Given the description of an element on the screen output the (x, y) to click on. 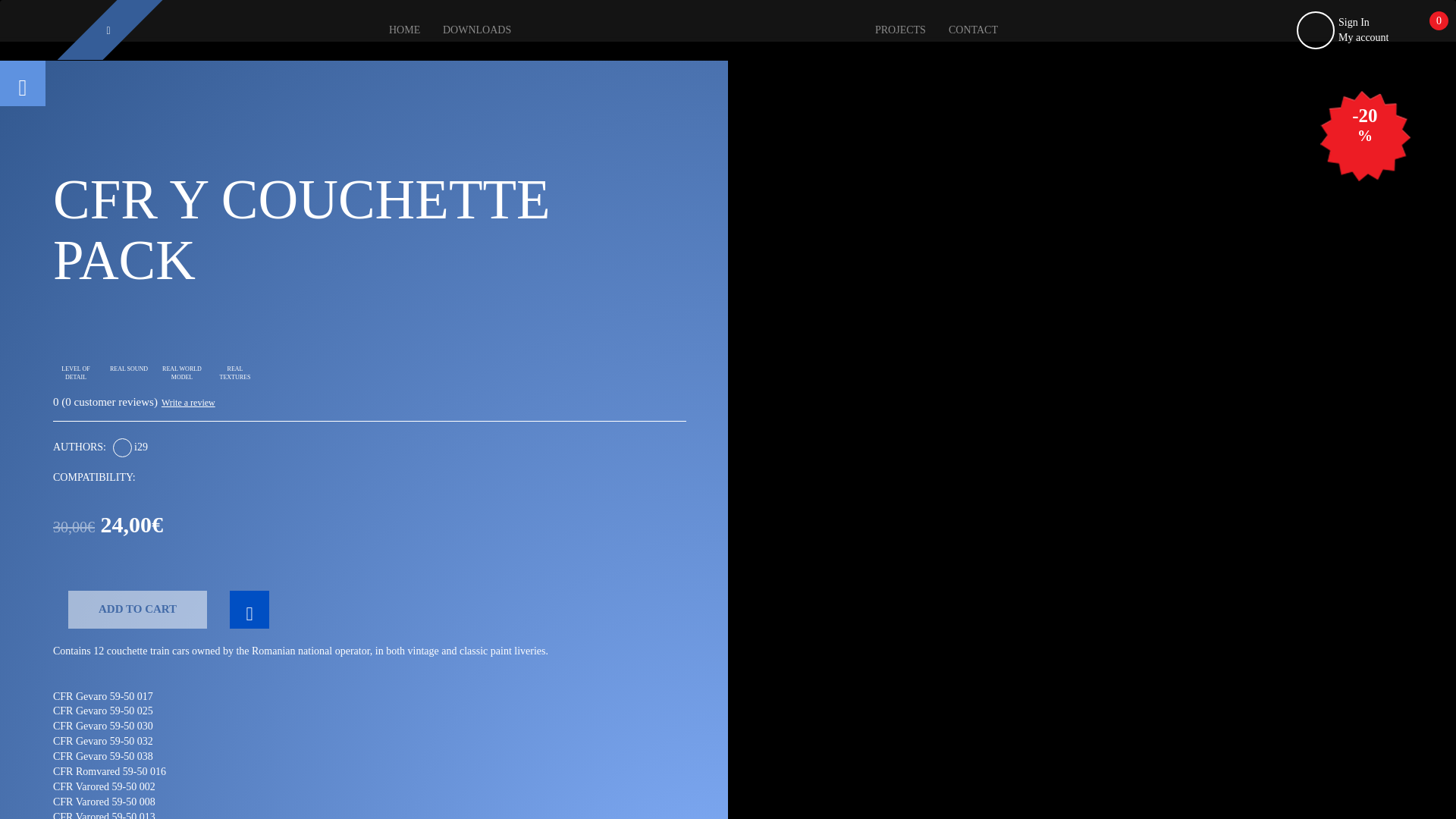
Add to favorites (249, 609)
CONTACT (973, 29)
Contact (973, 29)
Projects (900, 29)
View your shopping cart (1427, 31)
Downloads (476, 29)
PROJECTS (900, 29)
HOME (403, 29)
DOWNLOADS (476, 29)
Home (403, 29)
